Given the description of an element on the screen output the (x, y) to click on. 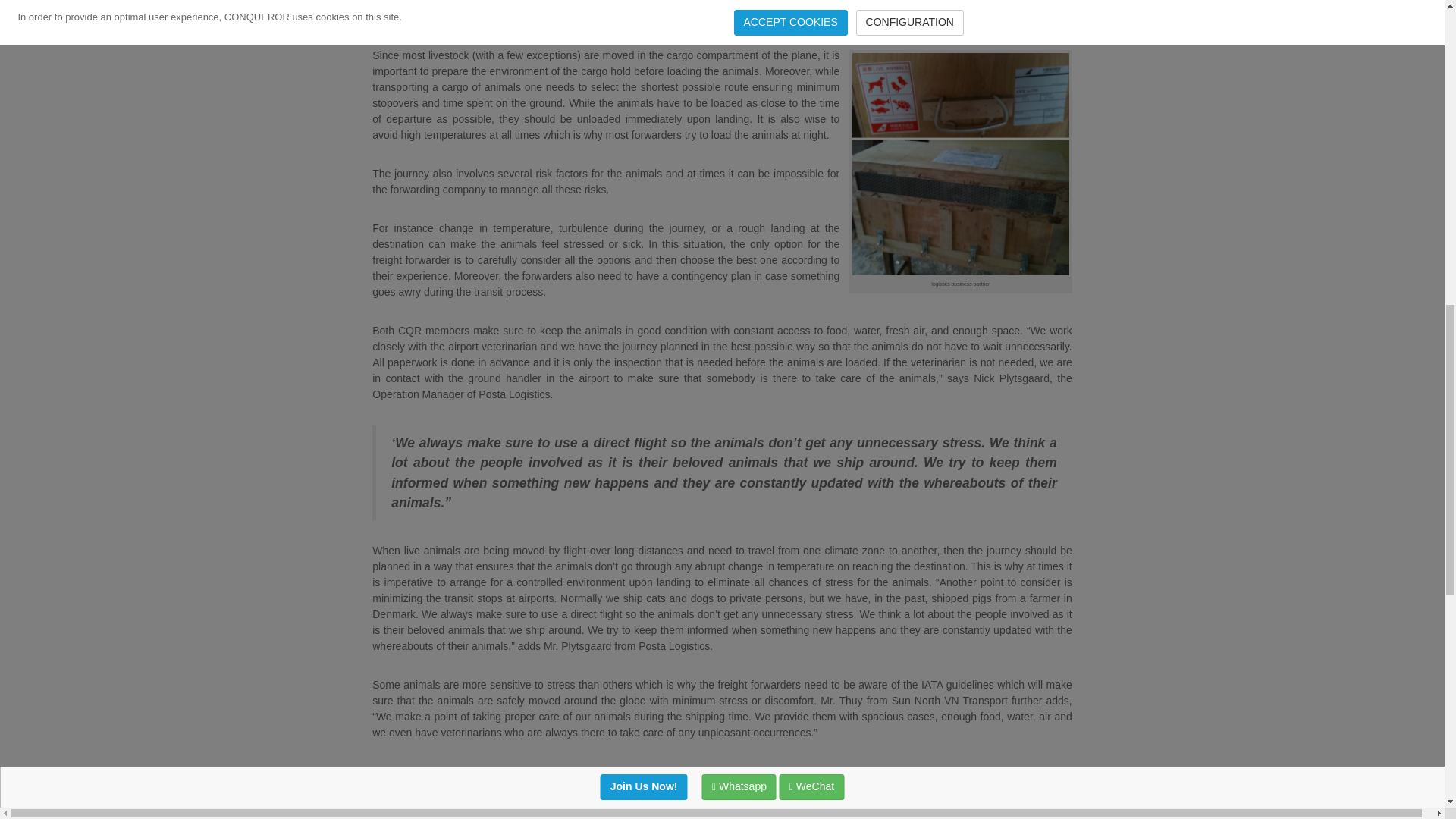
animal travel (604, 809)
Conqueror Haiphong (809, 809)
animal transport (531, 809)
News (433, 809)
moving live animals (1007, 809)
Conqueror Copenhagen (697, 809)
live animal logistics (910, 809)
